Given the description of an element on the screen output the (x, y) to click on. 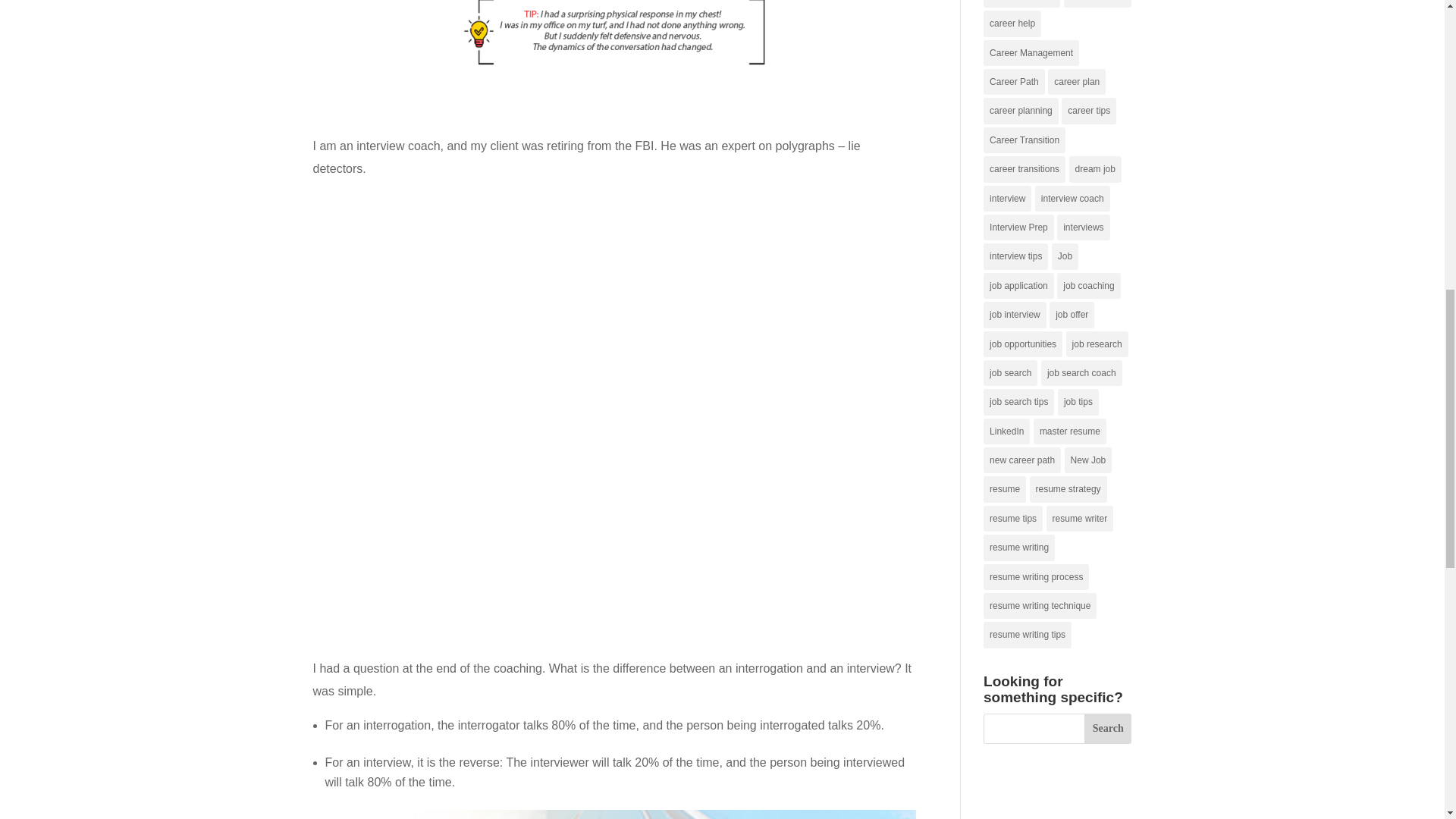
Search (1108, 728)
